Given the description of an element on the screen output the (x, y) to click on. 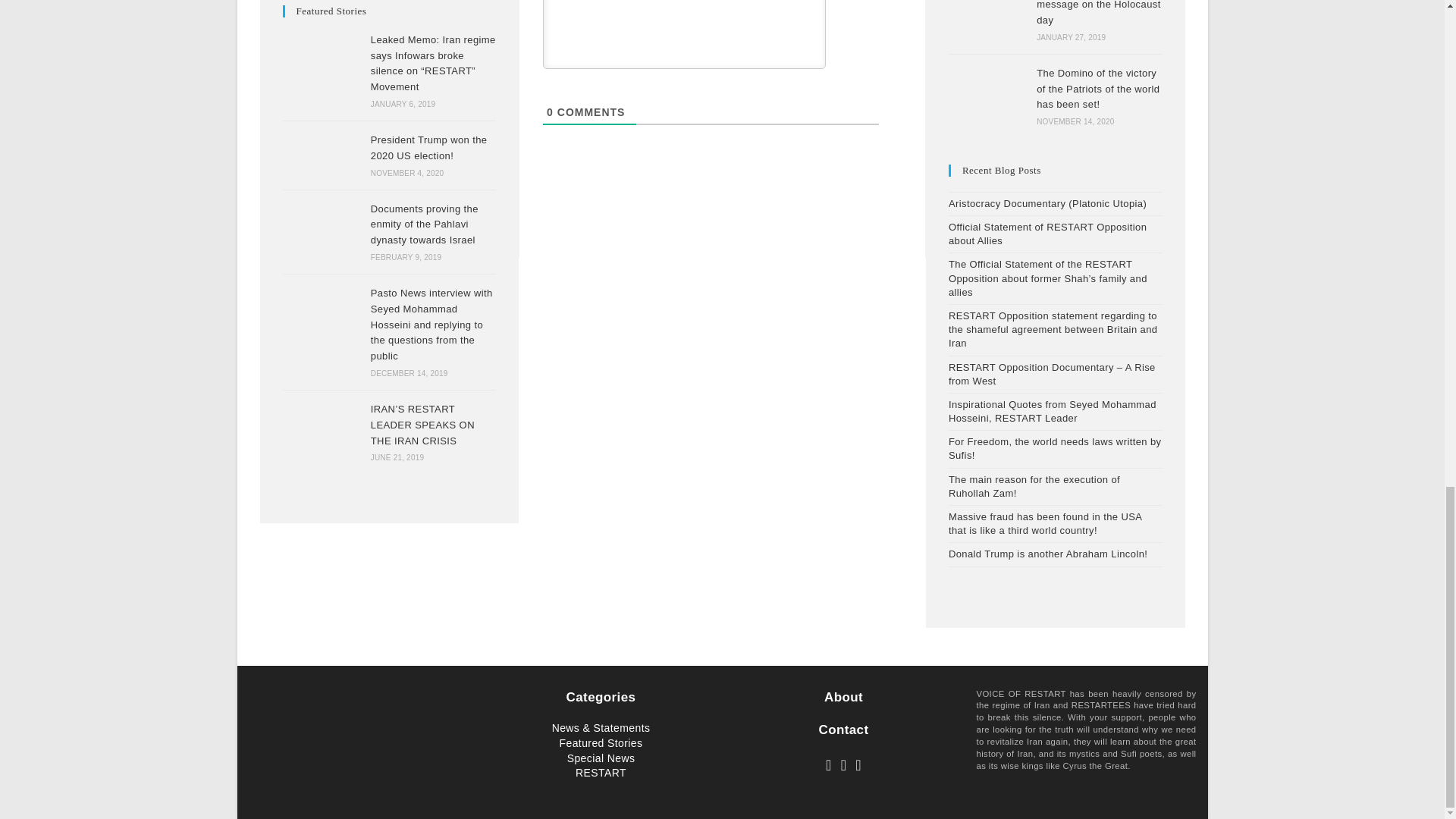
President Trump won the 2020 US election! (321, 154)
